Given the description of an element on the screen output the (x, y) to click on. 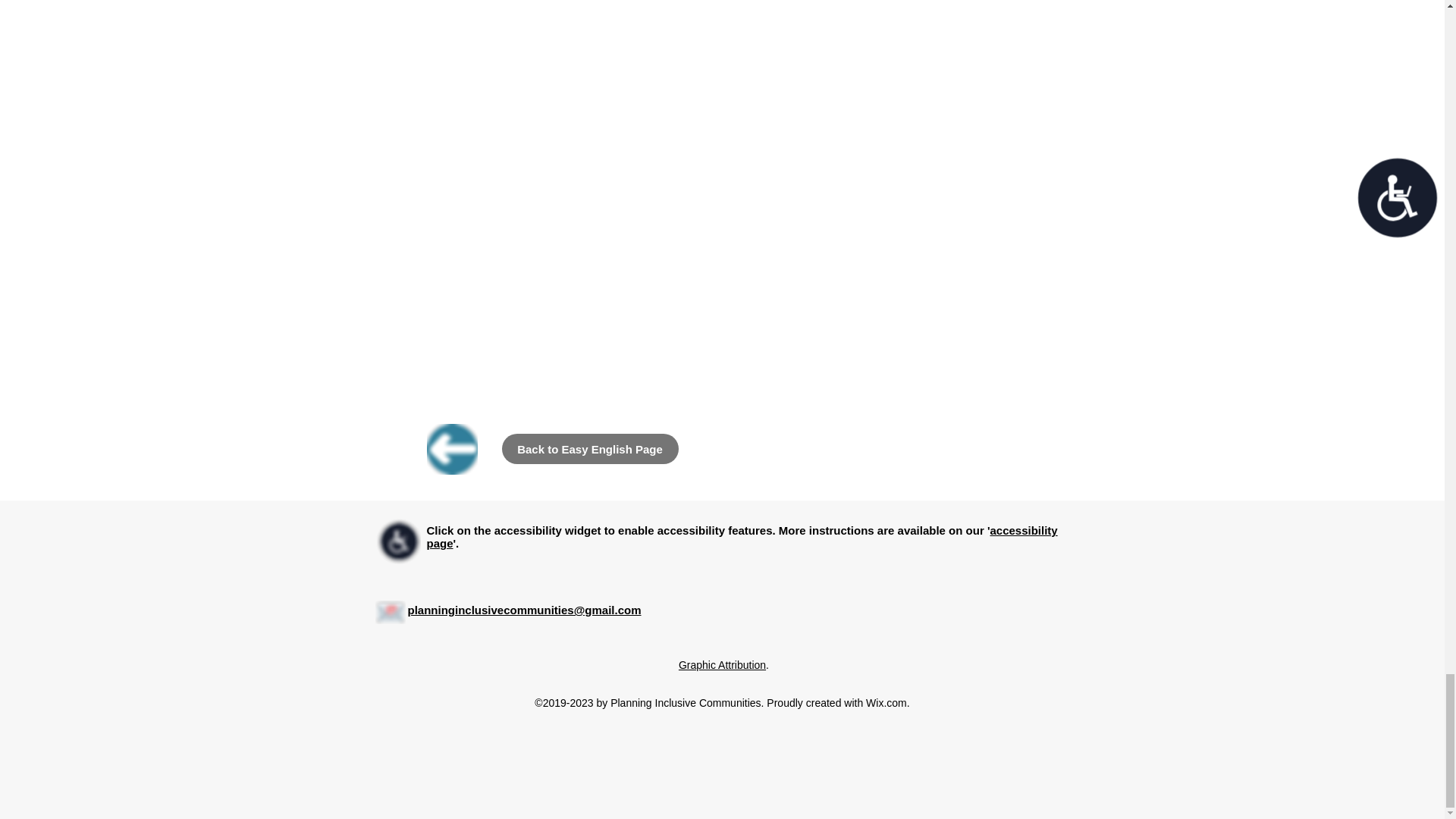
Graphic Attribution (721, 664)
Back to Easy English Page (590, 449)
'accessibility page' (741, 536)
